Given the description of an element on the screen output the (x, y) to click on. 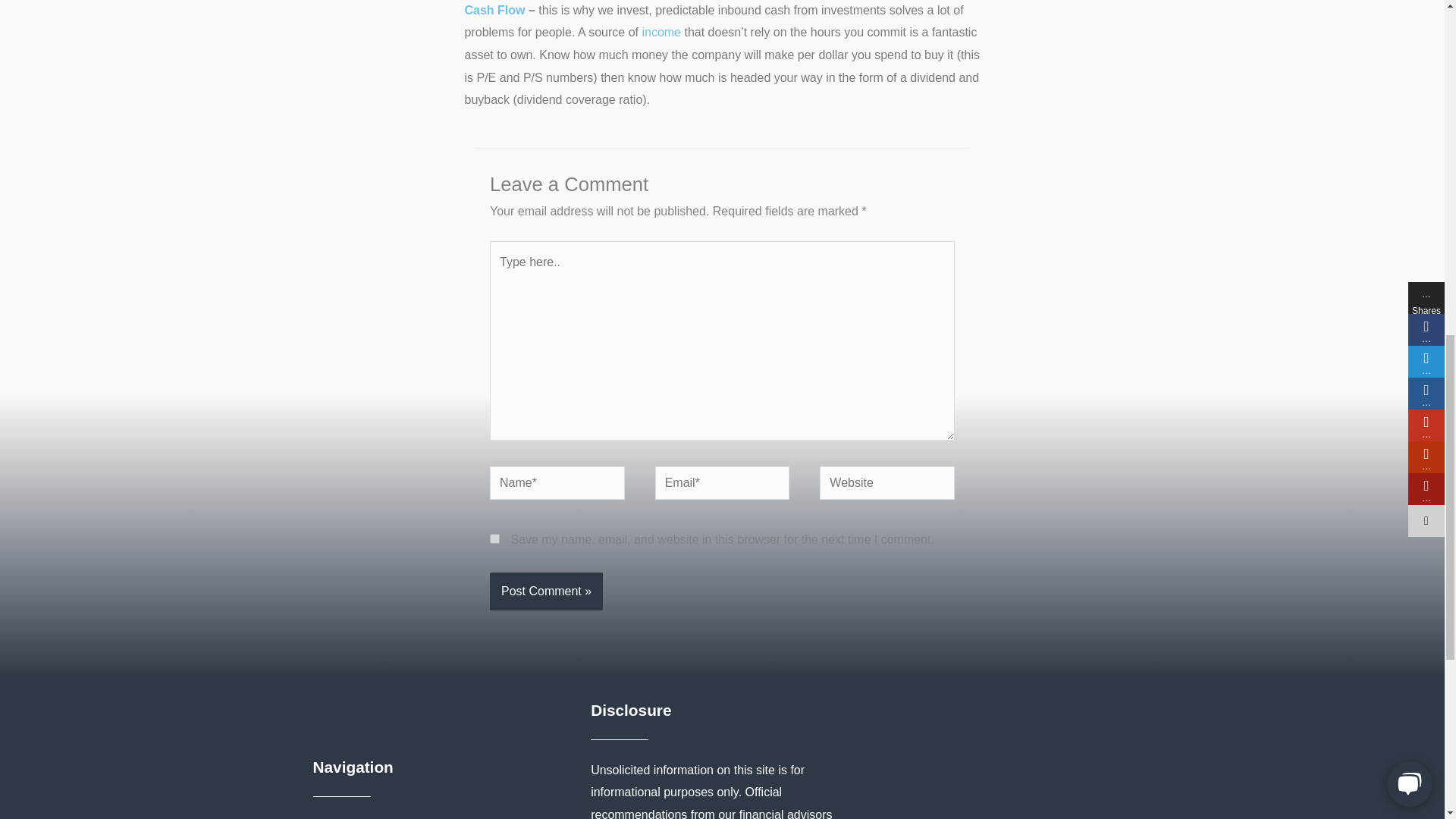
income (661, 31)
yes (494, 538)
Cash Flow (494, 10)
